Given the description of an element on the screen output the (x, y) to click on. 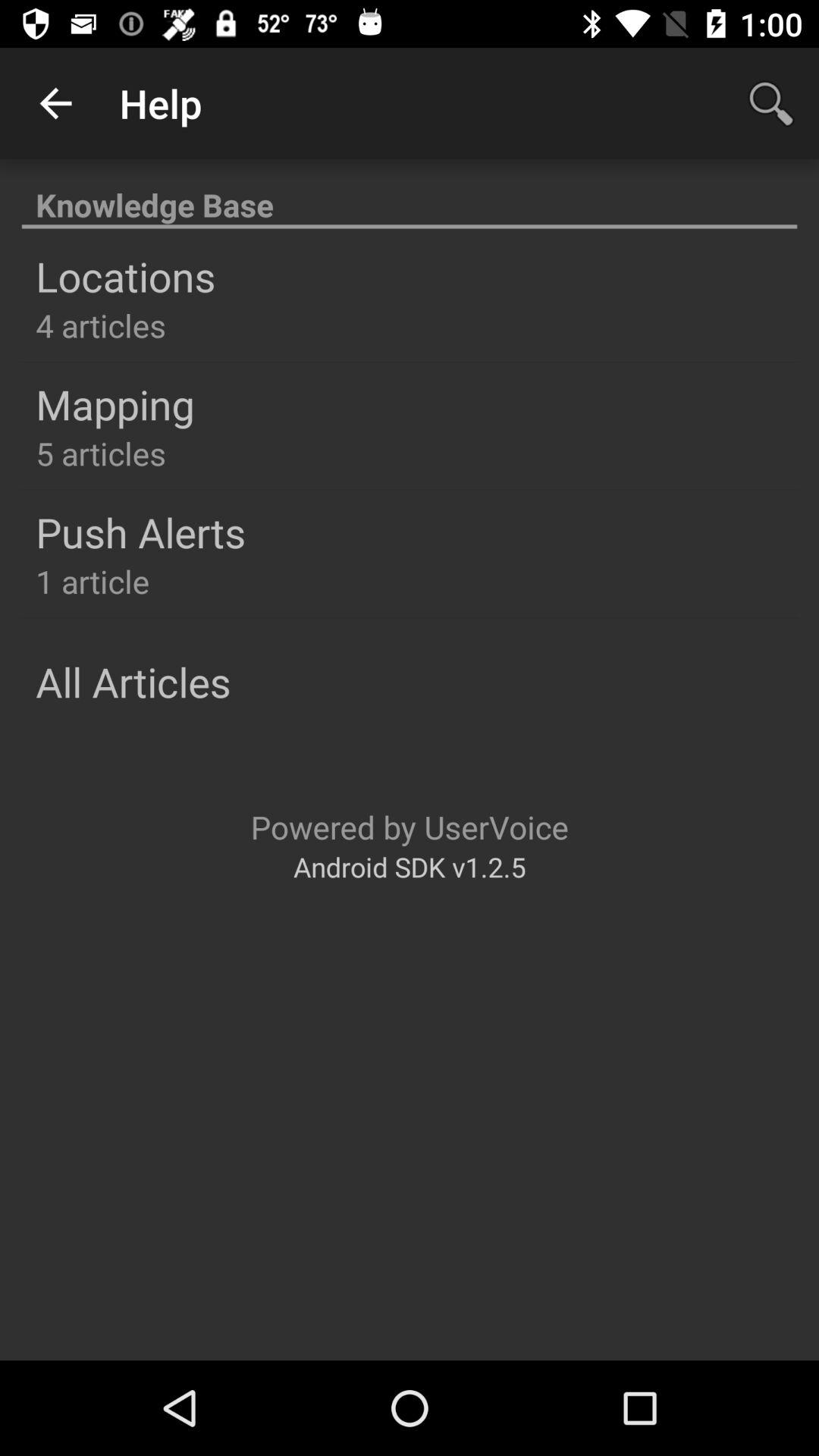
click the item next to help item (771, 103)
